Given the description of an element on the screen output the (x, y) to click on. 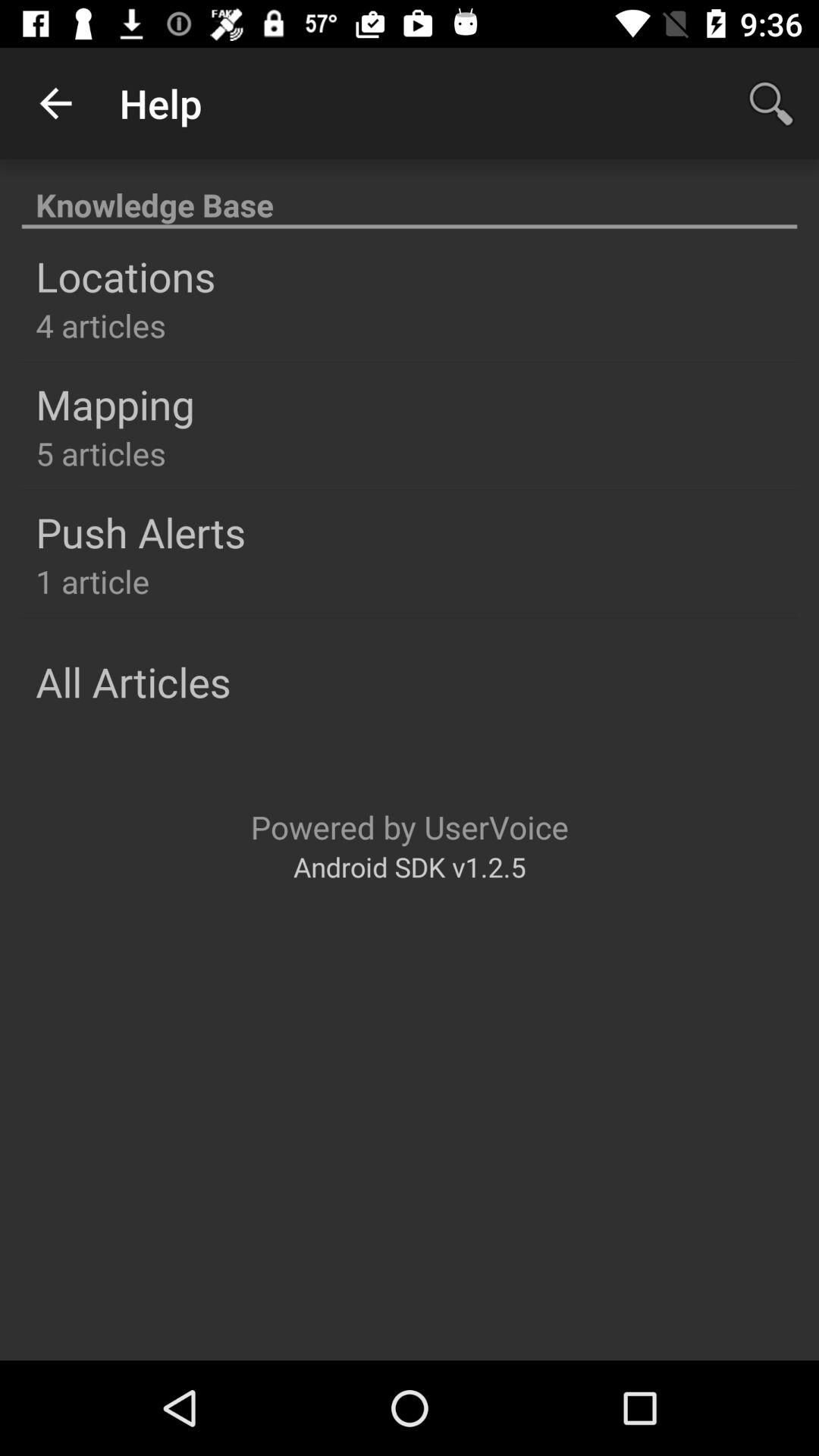
launch the icon above the 4 articles icon (125, 275)
